Given the description of an element on the screen output the (x, y) to click on. 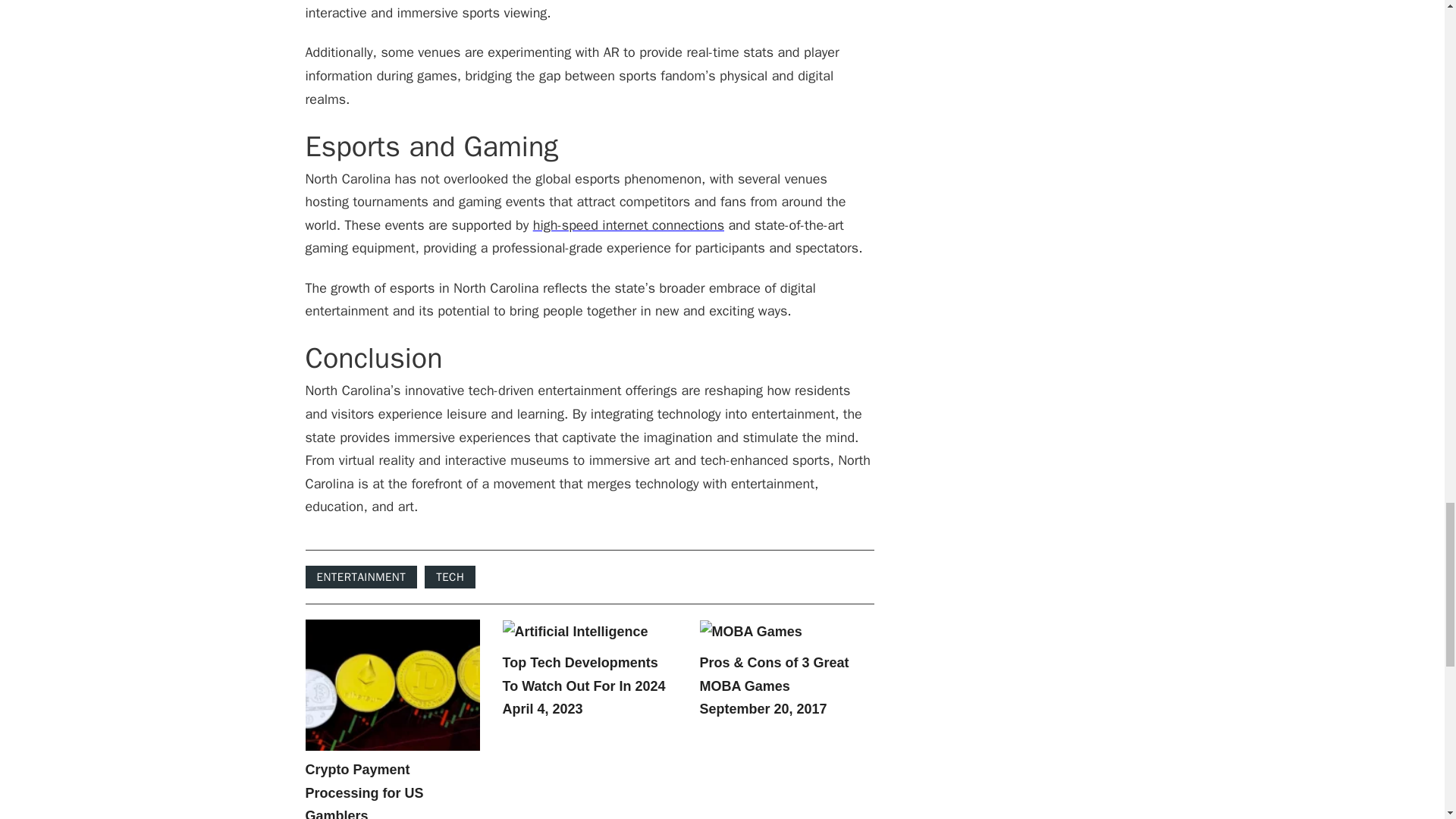
ENTERTAINMENT (360, 576)
TECH (450, 576)
high-speed internet connections (627, 225)
